Given the description of an element on the screen output the (x, y) to click on. 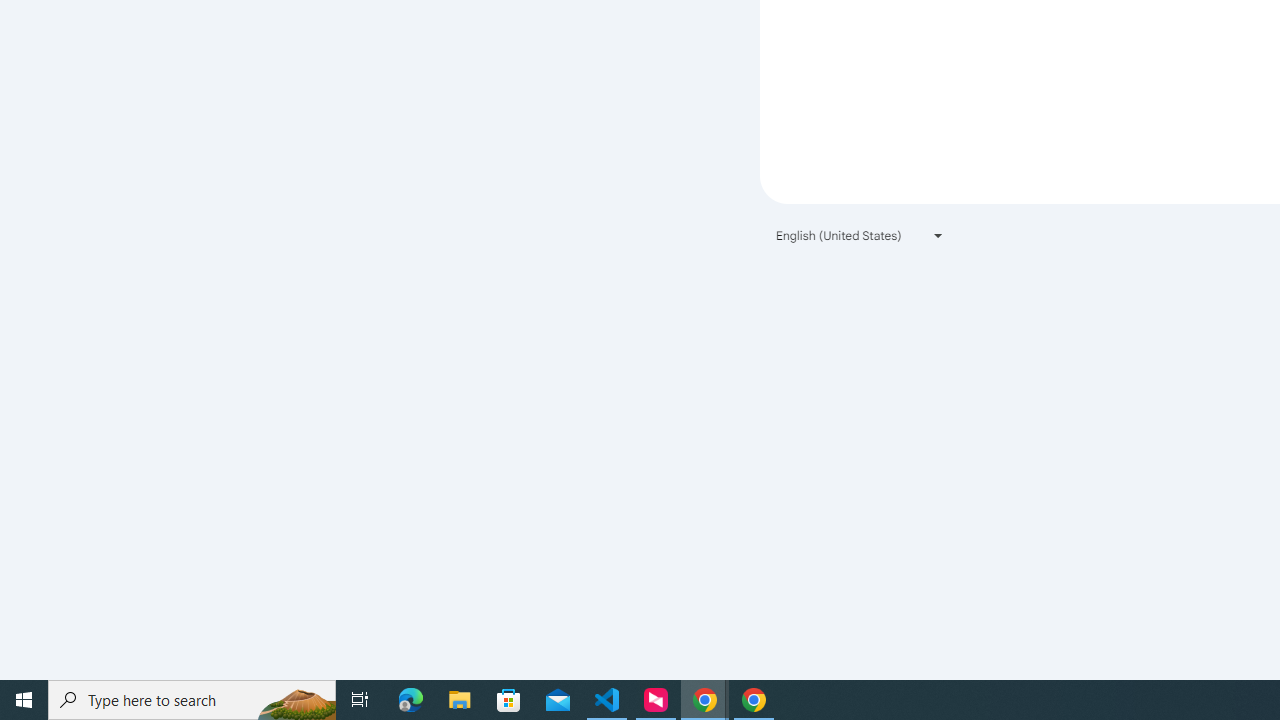
English (United States) (860, 234)
